Given the description of an element on the screen output the (x, y) to click on. 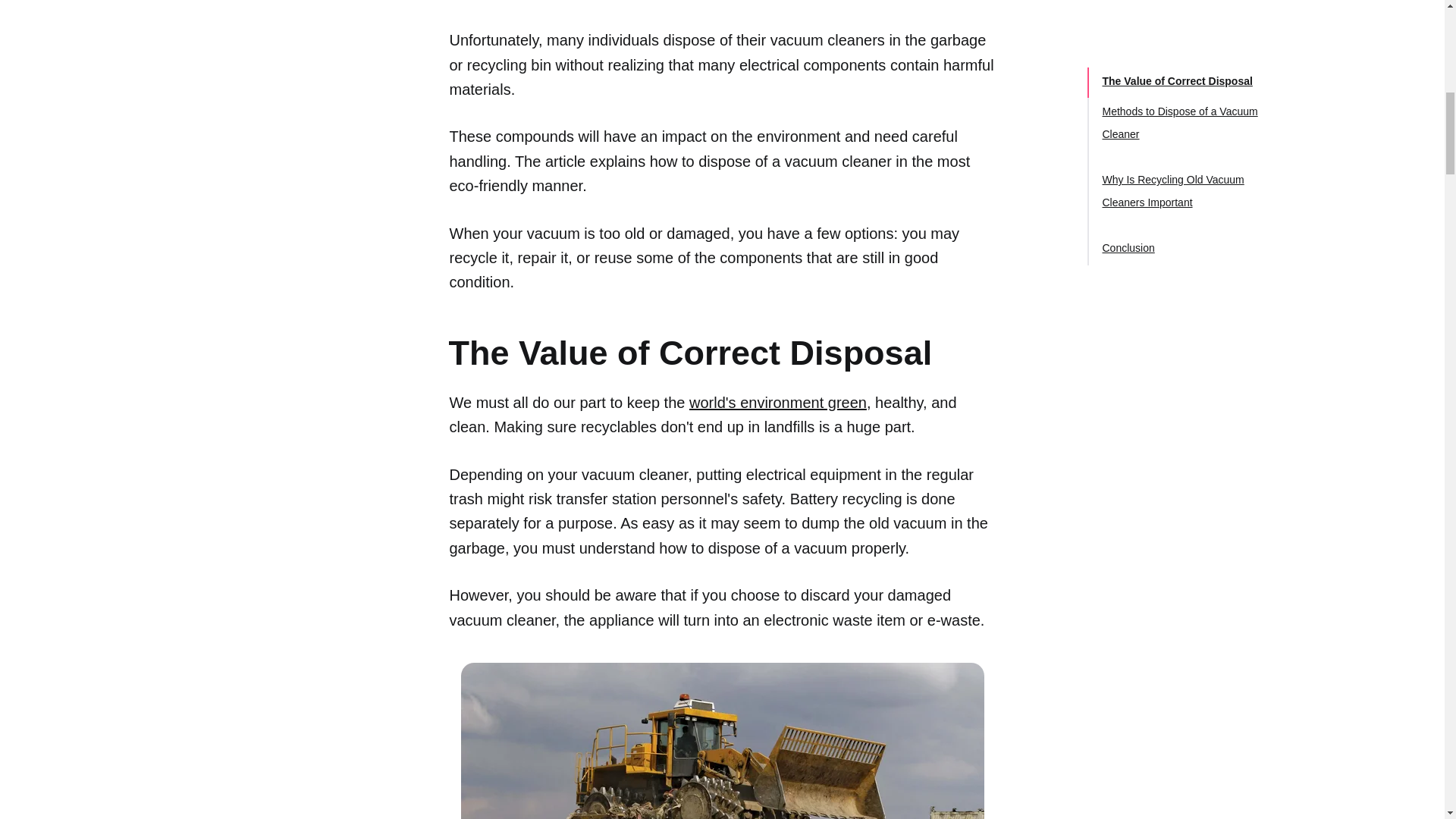
Conclusion (1128, 207)
The Value of Correct Disposal (1177, 40)
Methods to Dispose of a Vacuum Cleaner (1179, 82)
world's environment green (777, 402)
Why Is Recycling Old Vacuum Cleaners Important (1173, 150)
